Given the description of an element on the screen output the (x, y) to click on. 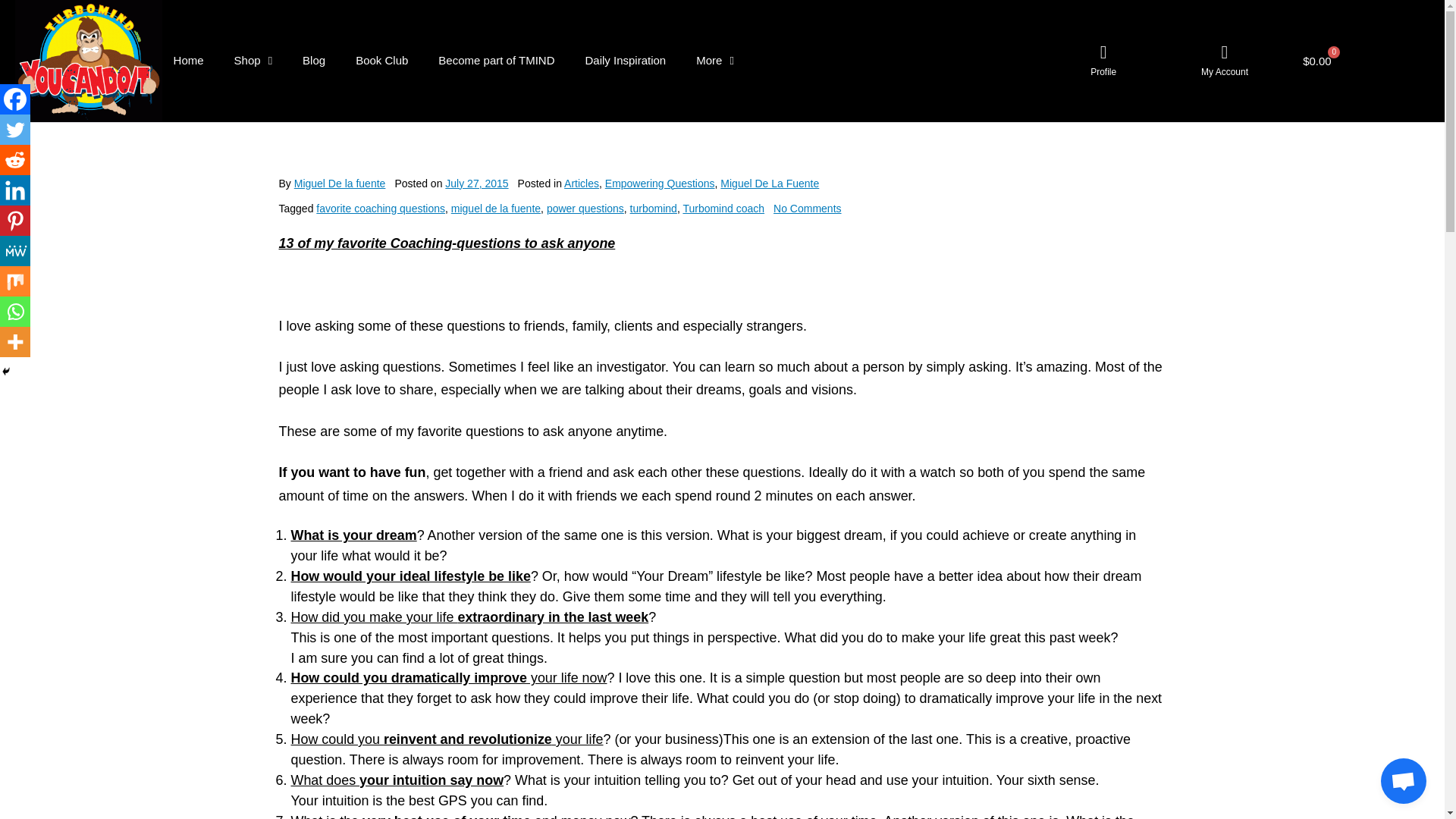
Linkedin (15, 190)
Become part of TMIND (496, 60)
Pinterest (15, 220)
More (715, 60)
Blog (313, 60)
Book Club (381, 60)
Home (188, 60)
Facebook (15, 99)
Daily Inspiration (625, 60)
Reddit (15, 159)
Twitter (15, 129)
Shop (253, 60)
